Given the description of an element on the screen output the (x, y) to click on. 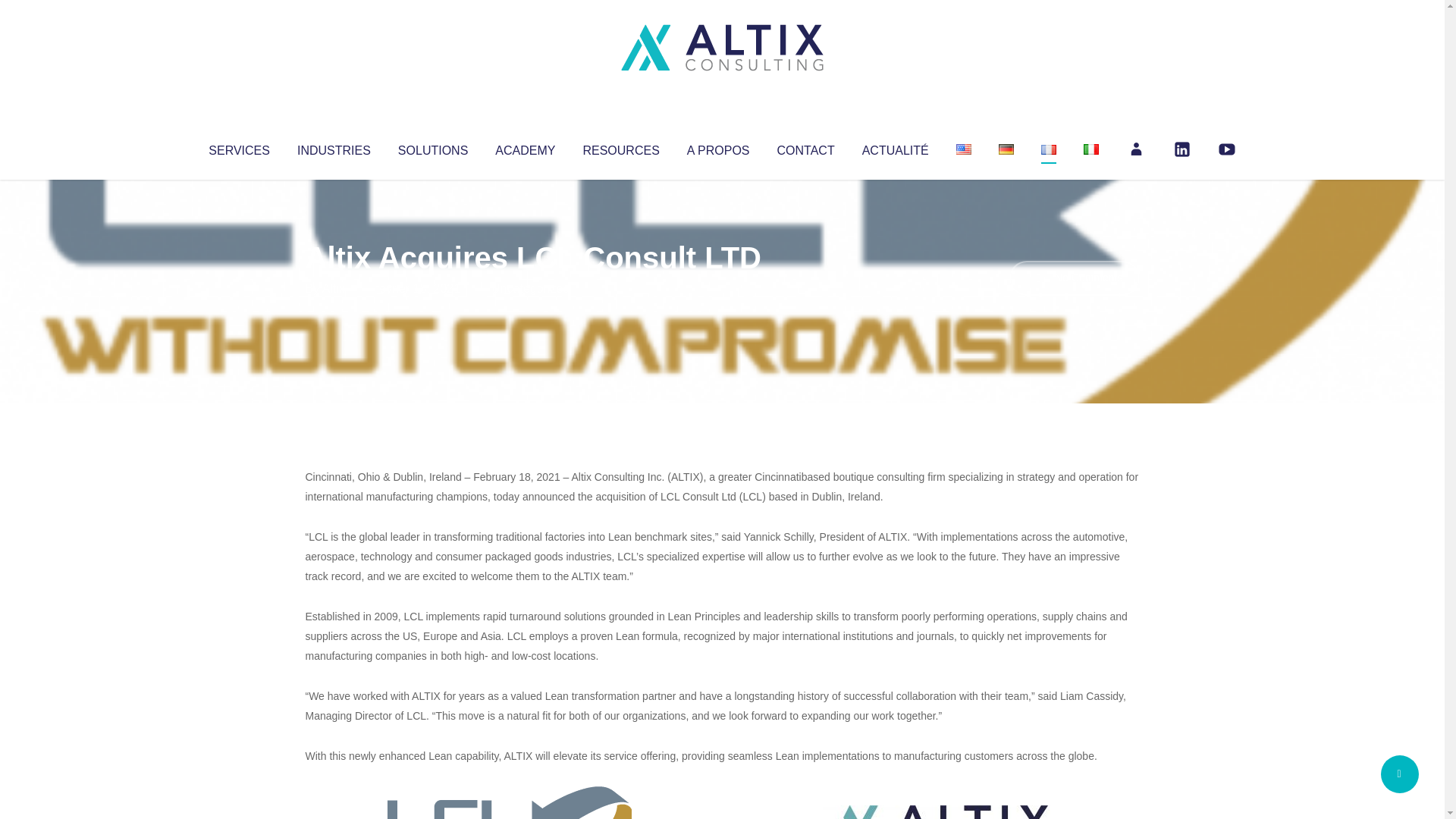
SOLUTIONS (432, 146)
Altix (333, 287)
A PROPOS (718, 146)
No Comments (1073, 278)
SERVICES (238, 146)
RESOURCES (620, 146)
Uncategorized (530, 287)
ACADEMY (524, 146)
Articles par Altix (333, 287)
INDUSTRIES (334, 146)
